Given the description of an element on the screen output the (x, y) to click on. 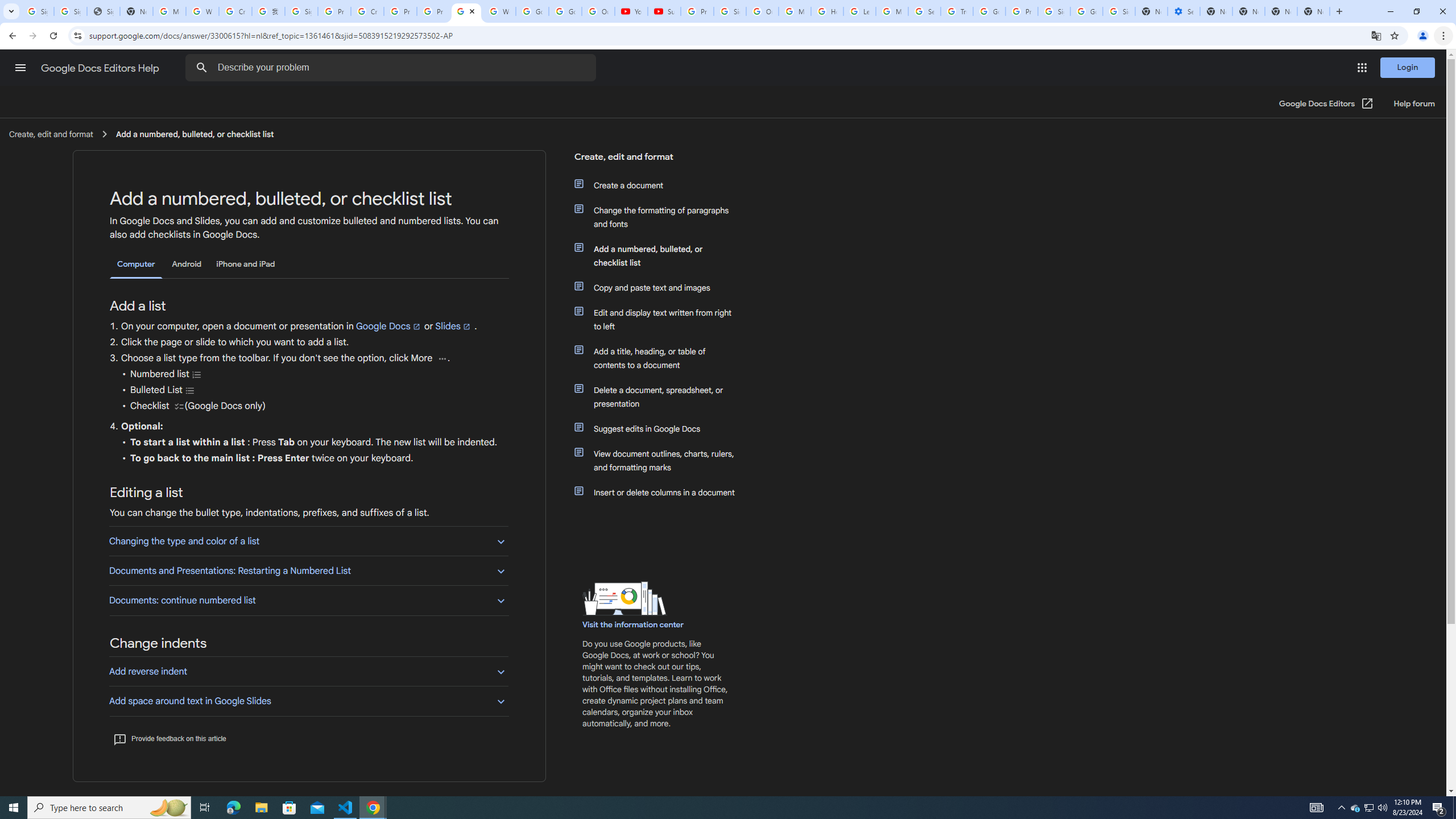
Add reverse indent (308, 671)
Google Cybersecurity Innovations - Google Safety Center (1086, 11)
Visit the information center (633, 624)
Slides (453, 326)
Numbered list (197, 374)
View document outlines, charts, rulers, and formatting marks (661, 460)
Sign in - Google Accounts (1053, 11)
Sign in - Google Accounts (301, 11)
Add space around text in Google Slides (308, 700)
